Given the description of an element on the screen output the (x, y) to click on. 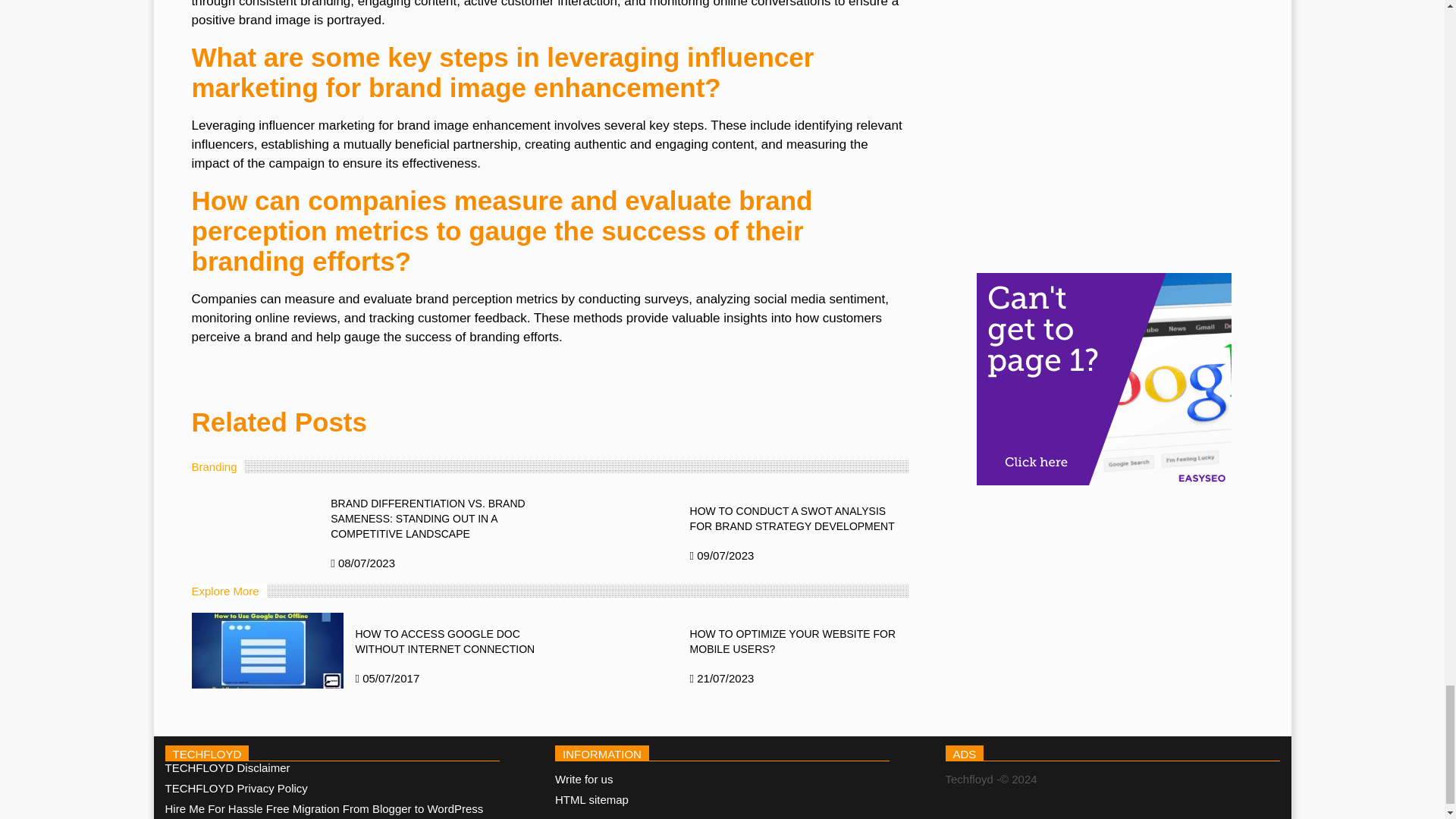
How to Access Google Doc Without Internet Connection (266, 650)
